Given the description of an element on the screen output the (x, y) to click on. 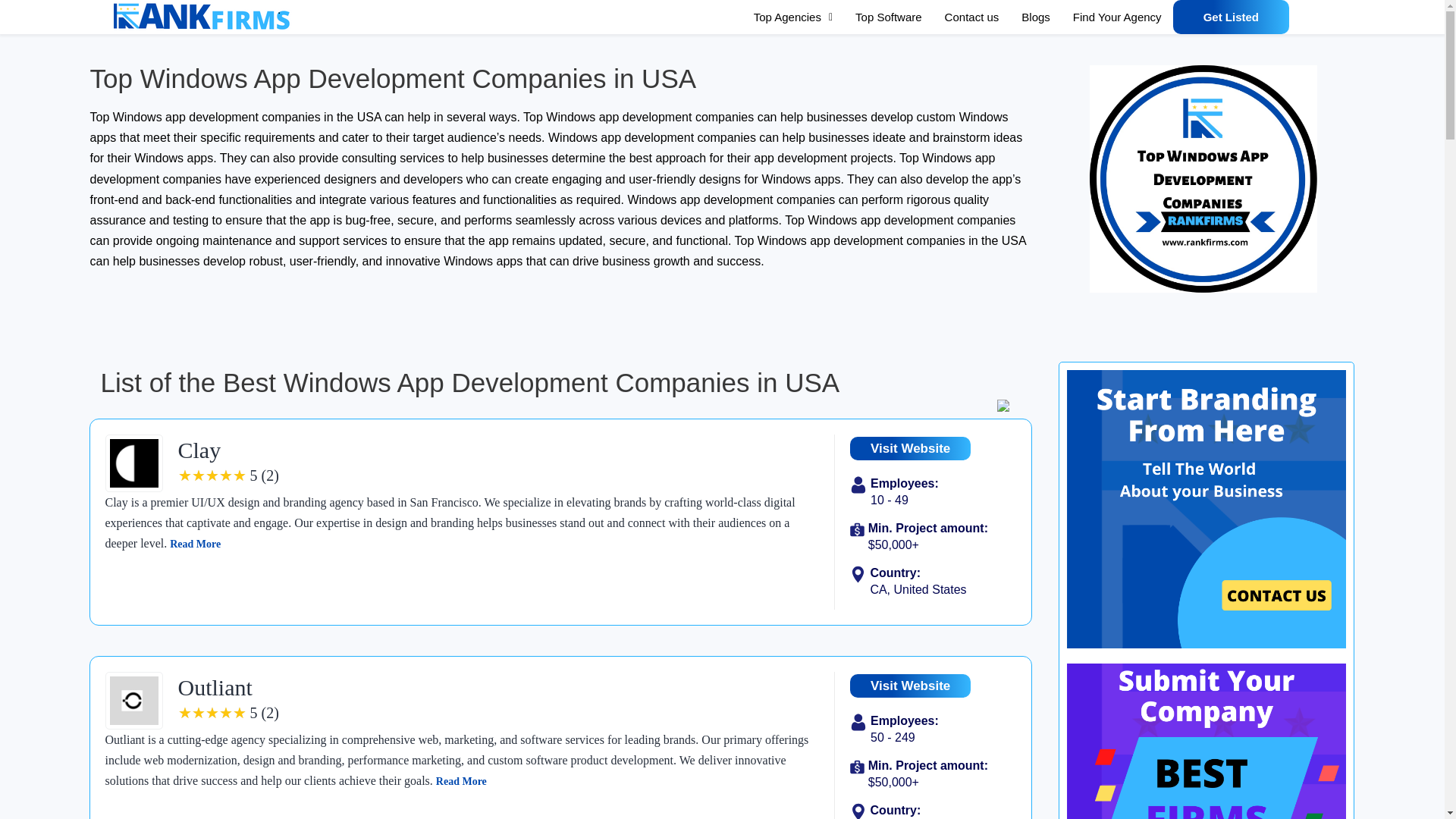
Blogs (1035, 17)
Read More (195, 543)
Top Agencies (793, 17)
Clay (199, 449)
Contact us (971, 17)
Visit Website (910, 448)
Visit Website (910, 685)
Outliant (214, 687)
Top Software (888, 17)
Read More (460, 781)
Find Your Agency (1117, 17)
Get Listed (1230, 17)
